Given the description of an element on the screen output the (x, y) to click on. 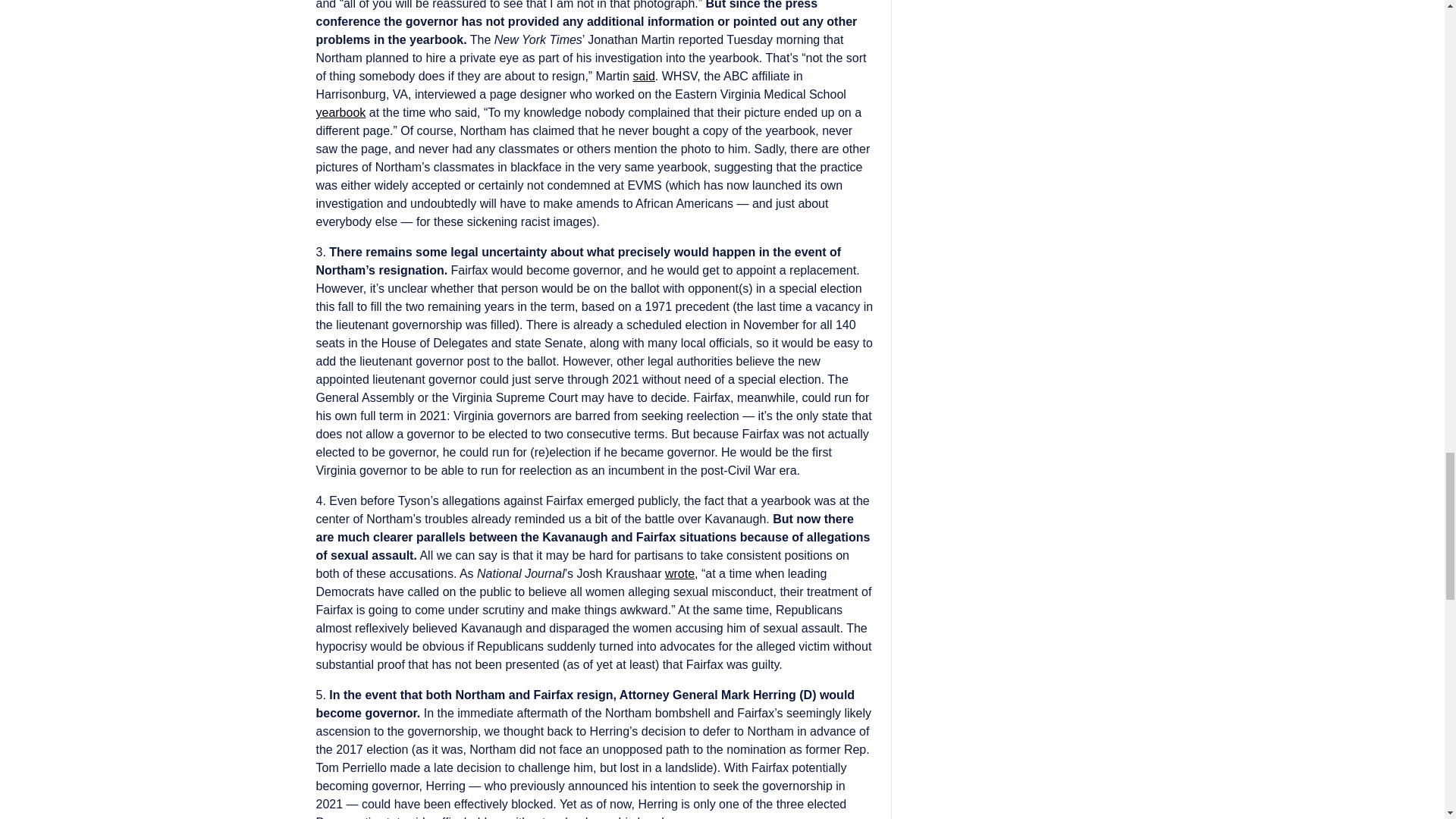
yearbook (340, 112)
said (642, 75)
wrote (679, 573)
